Given the description of an element on the screen output the (x, y) to click on. 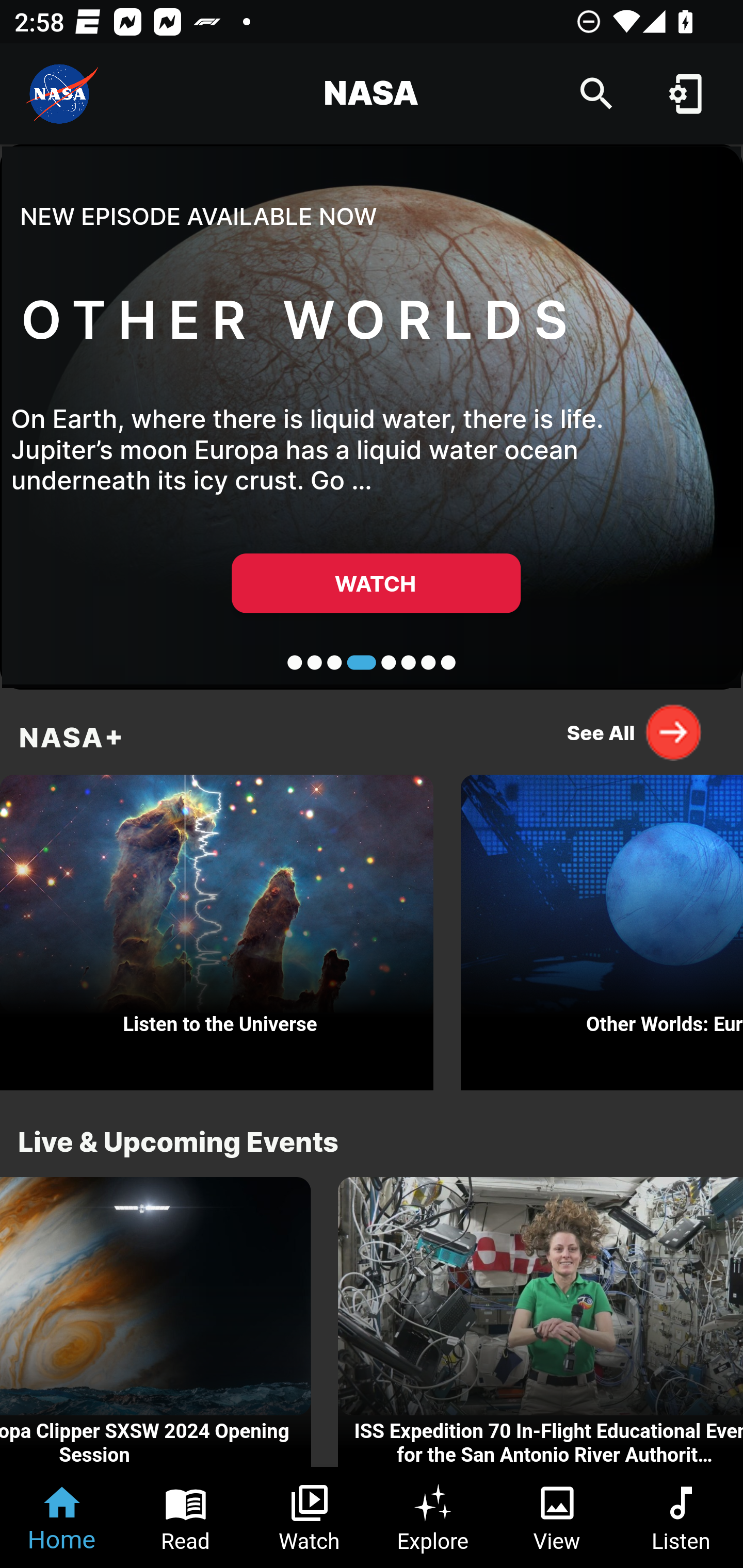
WATCH (375, 583)
See All (634, 732)
Listen to the Universe (216, 927)
Other Worlds: Europa (601, 927)
NASA's Europa Clipper SXSW 2024 Opening Session (155, 1322)
Home
Tab 1 of 6 (62, 1517)
Read
Tab 2 of 6 (185, 1517)
Watch
Tab 3 of 6 (309, 1517)
Explore
Tab 4 of 6 (433, 1517)
View
Tab 5 of 6 (556, 1517)
Listen
Tab 6 of 6 (680, 1517)
